Given the description of an element on the screen output the (x, y) to click on. 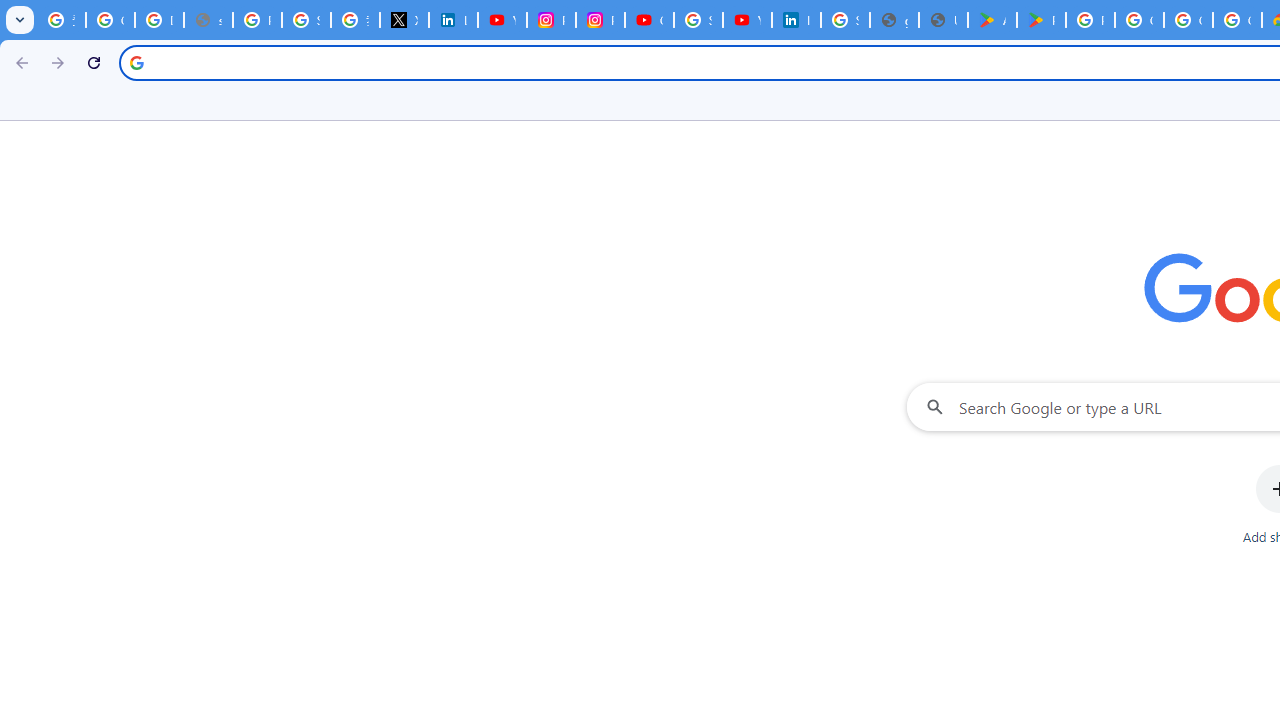
Sign in - Google Accounts (306, 20)
Sign in - Google Accounts (845, 20)
Google Workspace - Specific Terms (1237, 20)
Sign in - Google Accounts (698, 20)
Identity verification via Persona | LinkedIn Help (795, 20)
X (404, 20)
